Given the description of an element on the screen output the (x, y) to click on. 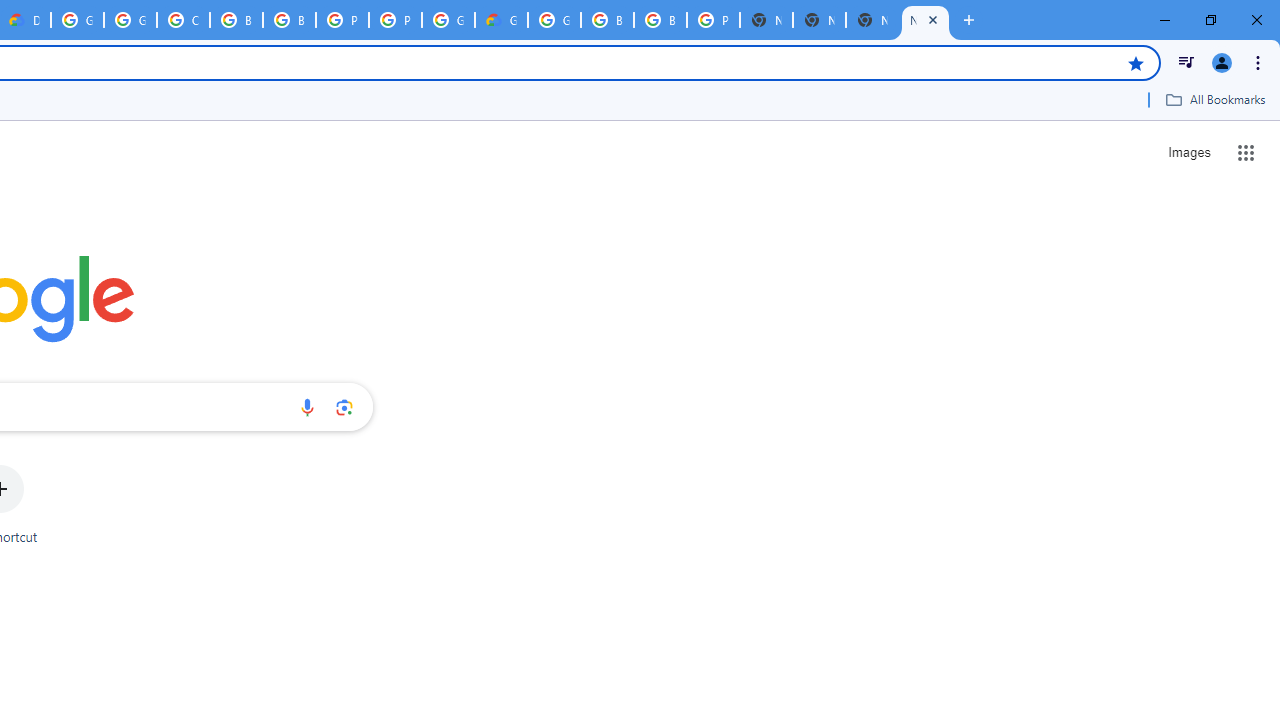
New Tab (872, 20)
Search by voice (307, 407)
New Tab (766, 20)
Google Cloud Platform (77, 20)
Google Cloud Platform (448, 20)
New Tab (925, 20)
